Given the description of an element on the screen output the (x, y) to click on. 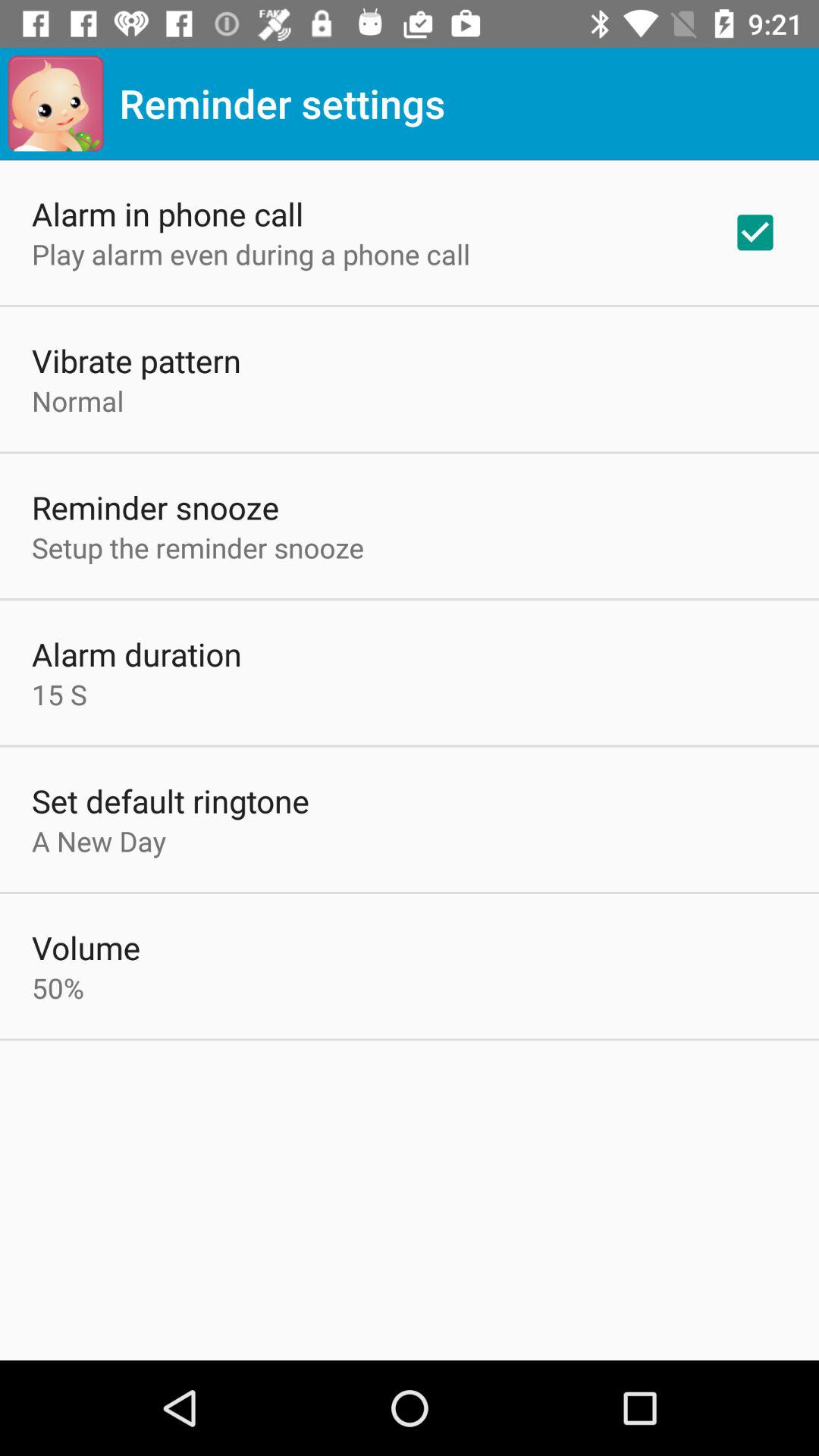
choose the app above vibrate pattern (250, 254)
